Given the description of an element on the screen output the (x, y) to click on. 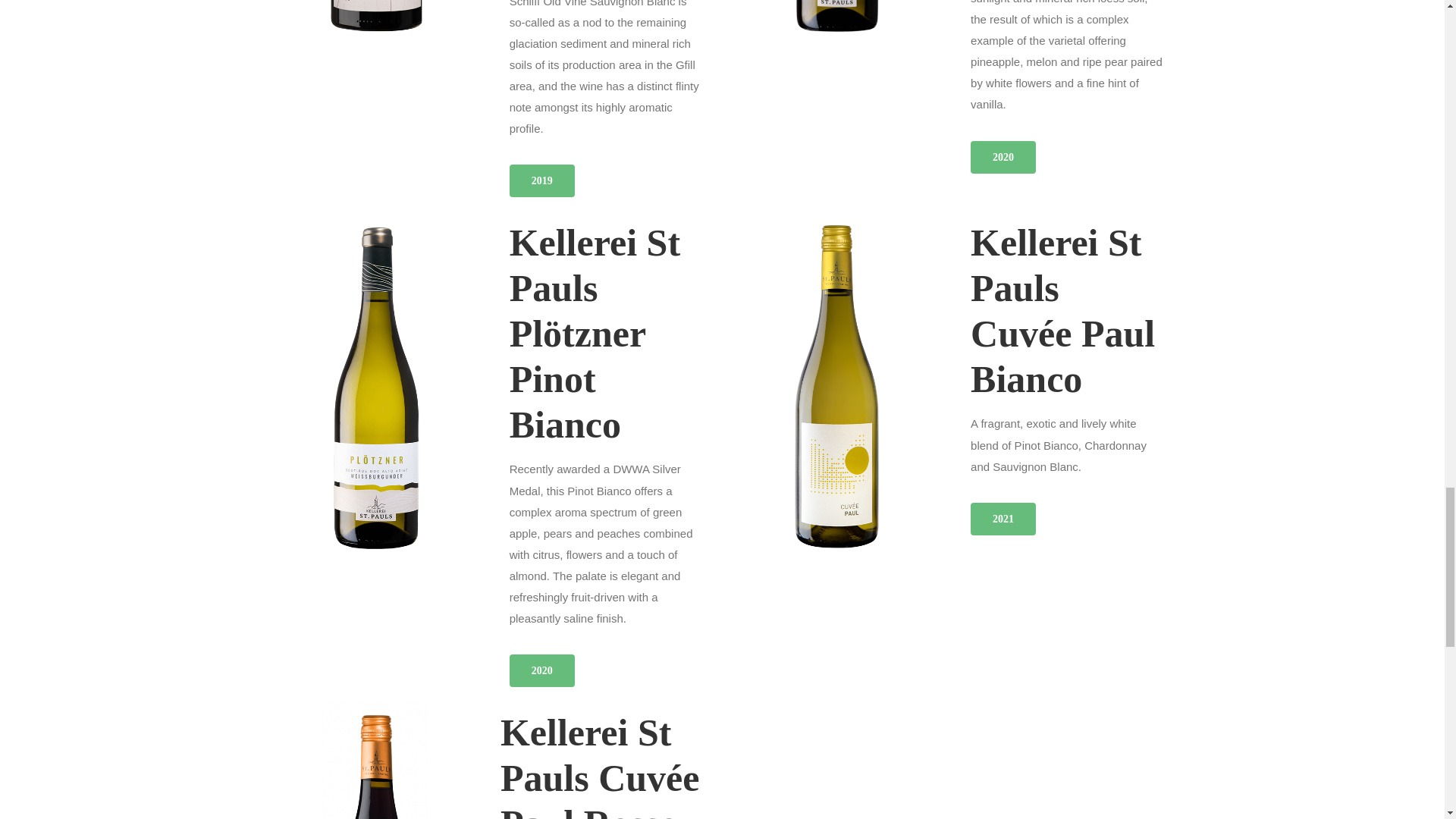
2020 (1003, 156)
2021 (1003, 518)
2019 (542, 180)
Schliff Sauvignon Blanc (376, 25)
2020 (542, 670)
